Given the description of an element on the screen output the (x, y) to click on. 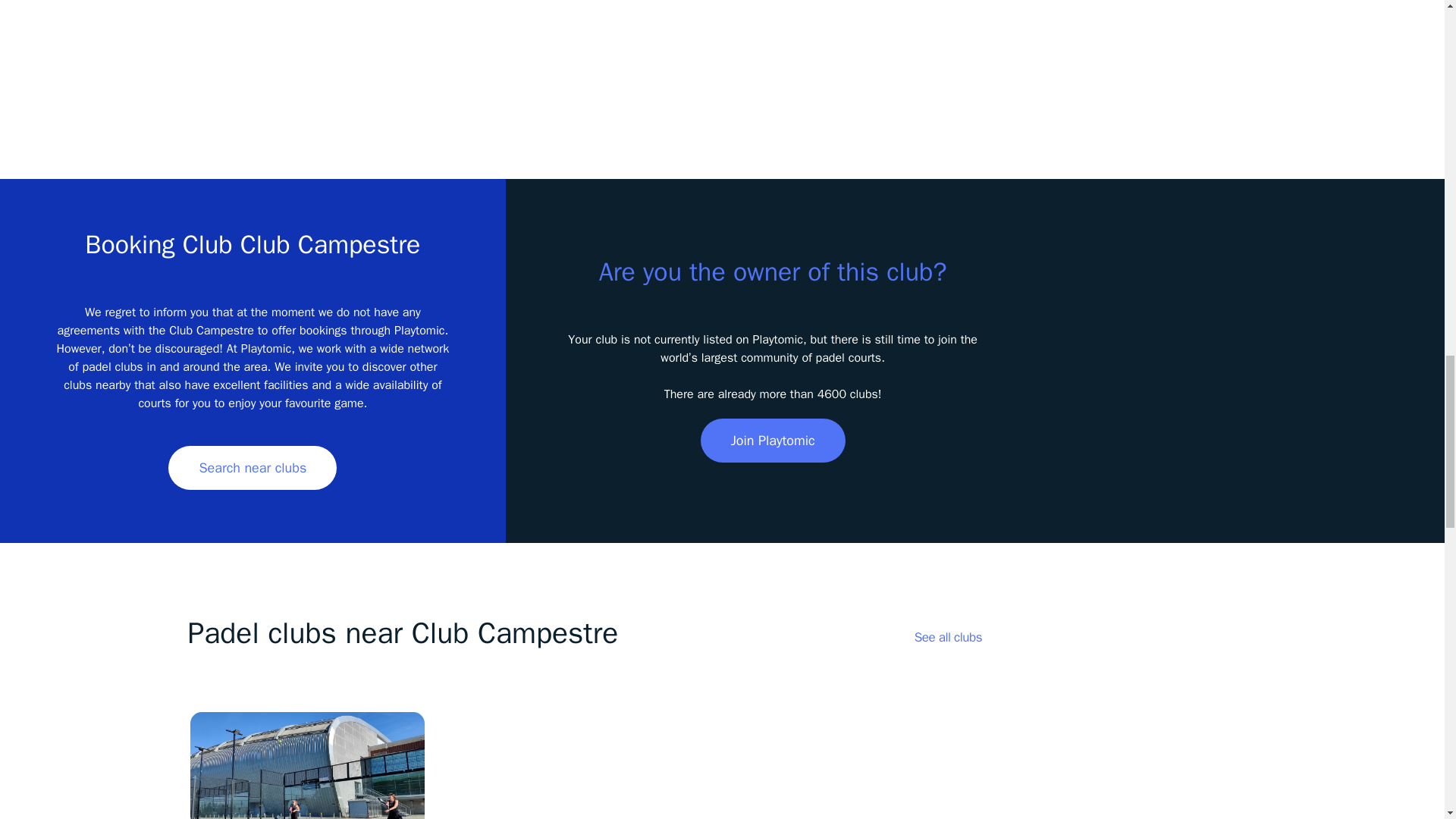
Search near clubs (252, 467)
Join Playtomic (772, 440)
See all clubs (947, 637)
